Given the description of an element on the screen output the (x, y) to click on. 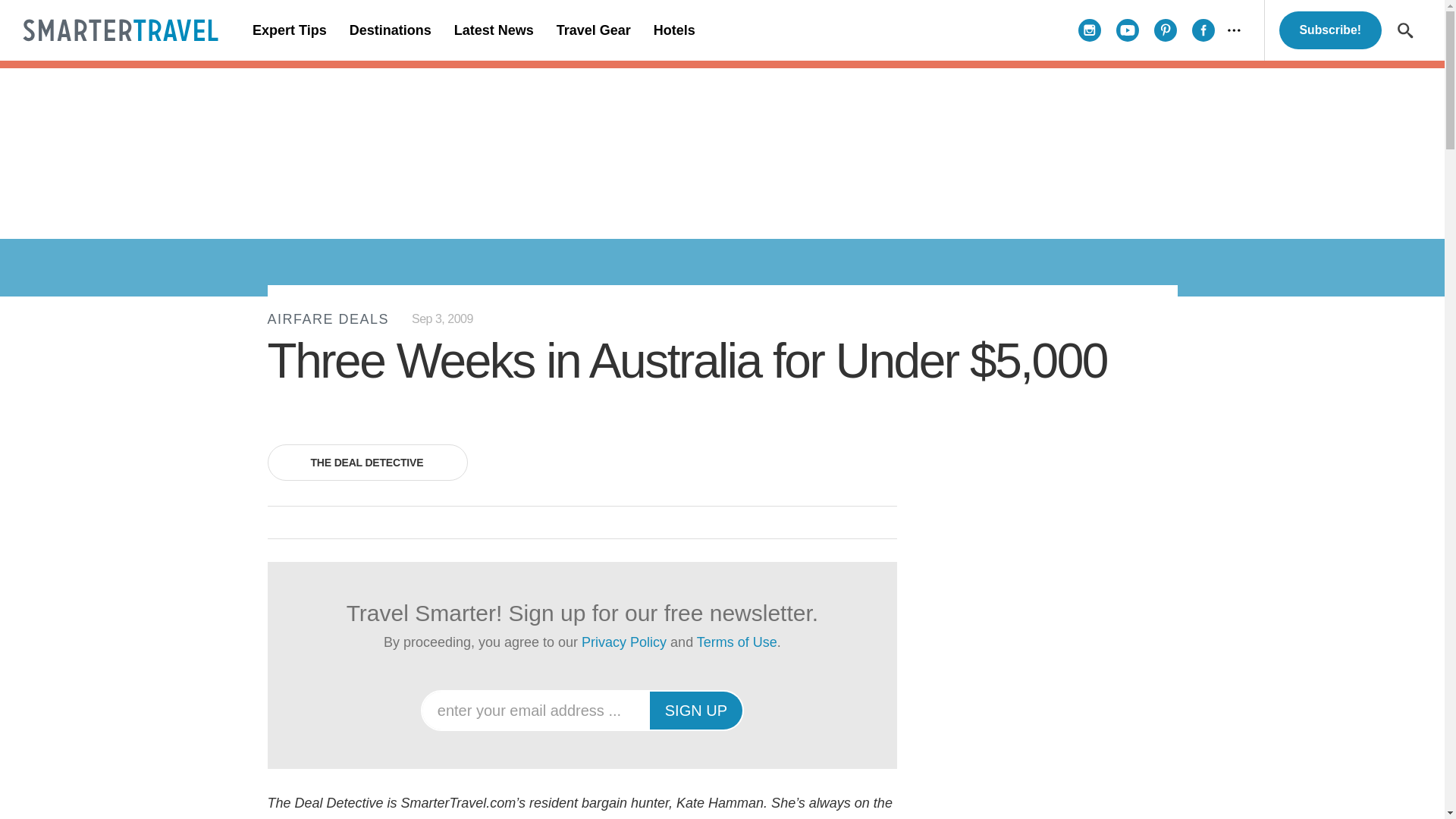
Subscribe! (1330, 30)
Latest News (493, 30)
Hotels (674, 30)
Expert Tips (289, 30)
Travel Gear (593, 30)
Destinations (389, 30)
